Given the description of an element on the screen output the (x, y) to click on. 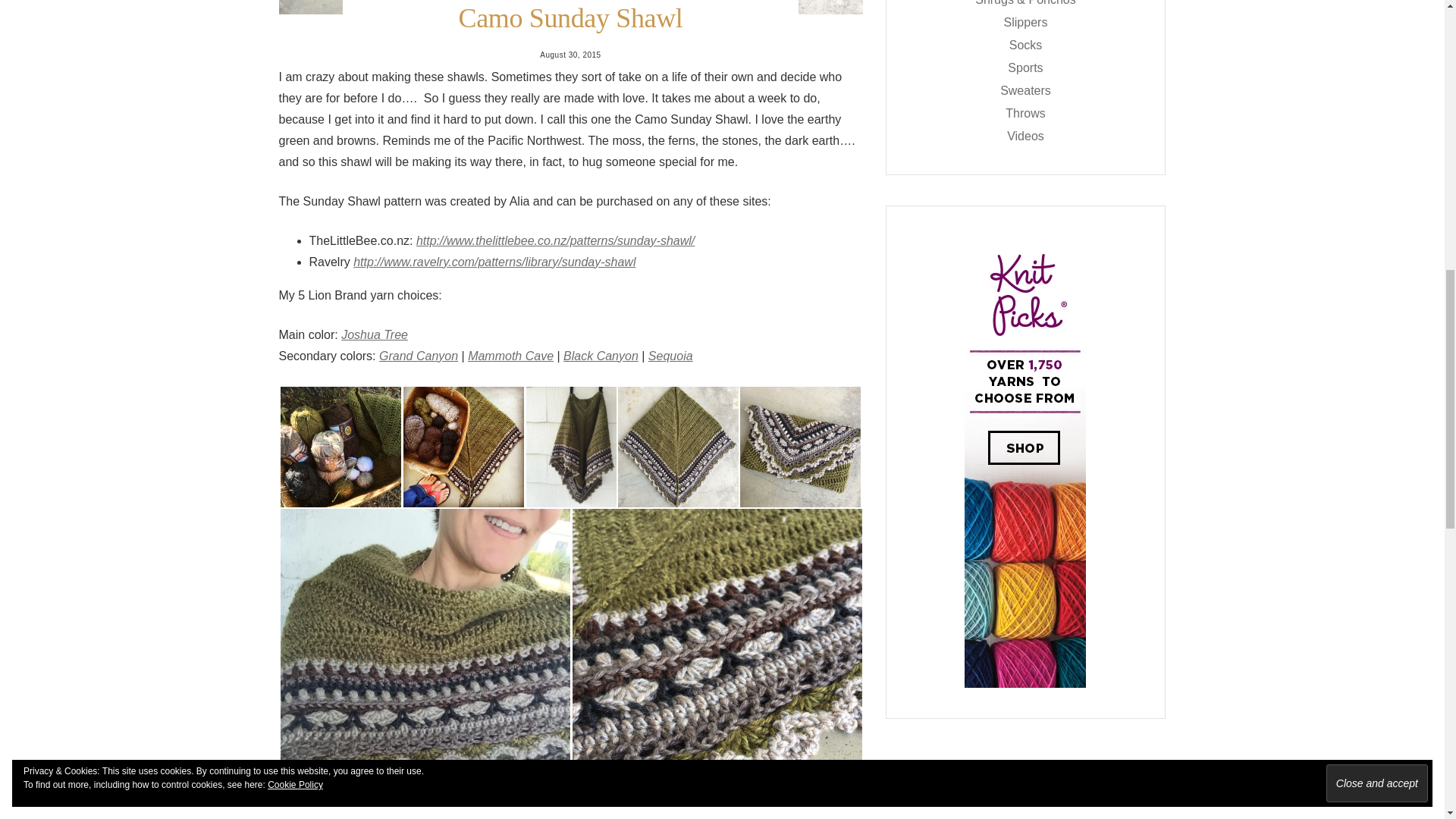
Joshua Tree (373, 333)
Black Canyon (601, 354)
Mammoth Cave (510, 354)
Sequoia (670, 354)
Grand Canyon (418, 354)
